Given the description of an element on the screen output the (x, y) to click on. 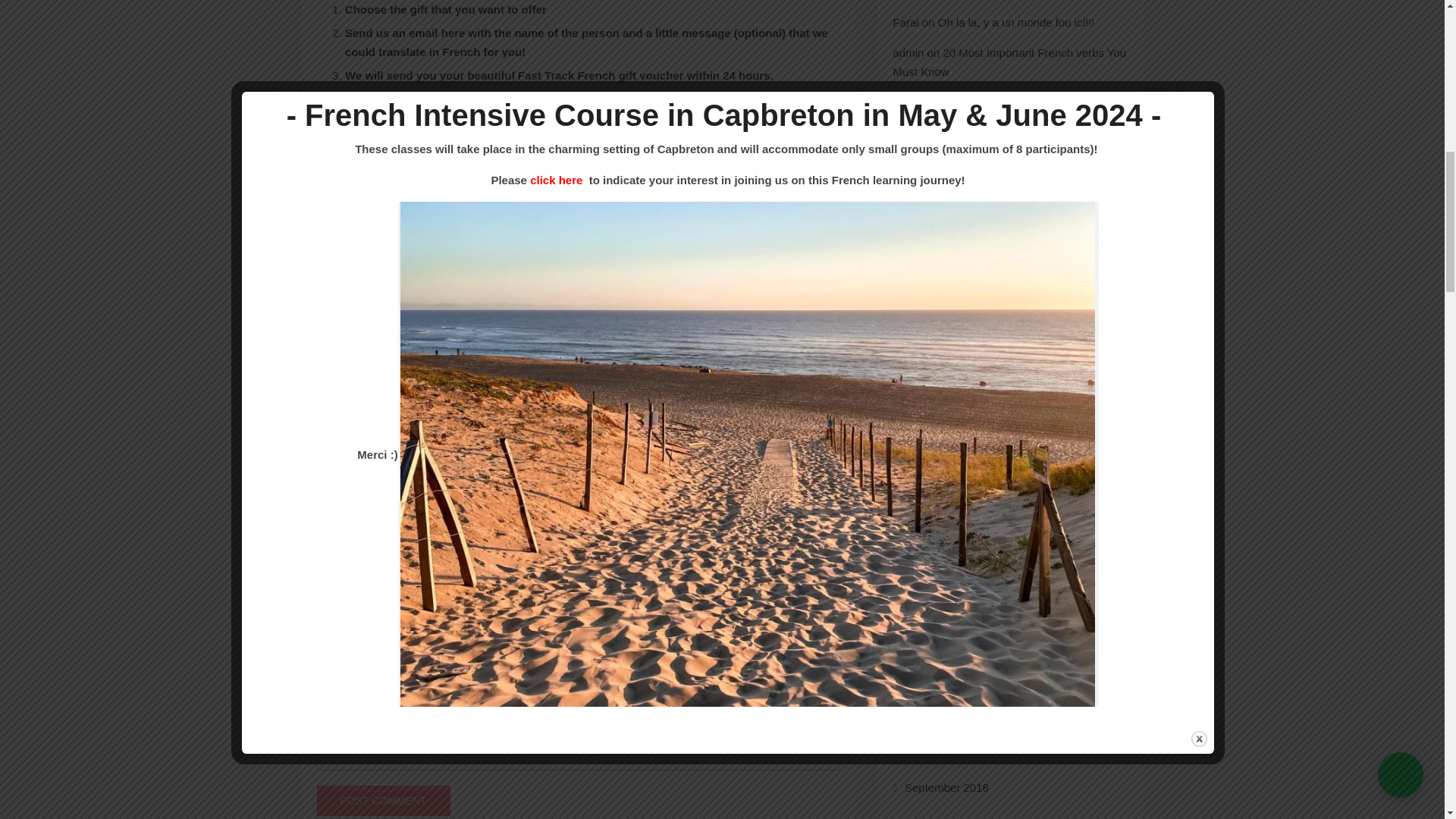
Post Comment (383, 800)
